Given the description of an element on the screen output the (x, y) to click on. 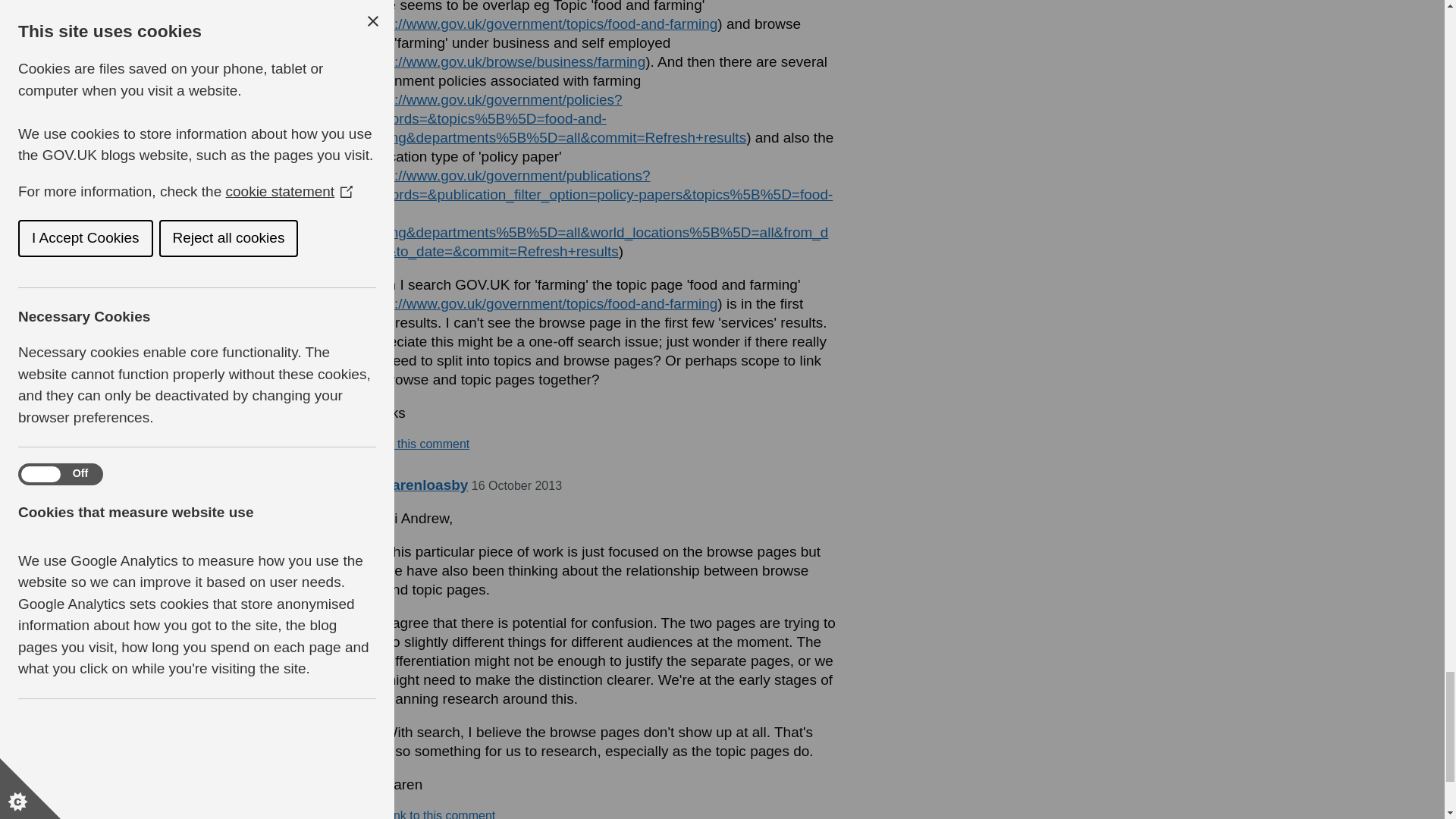
Link to this comment (413, 444)
karenloasby (425, 484)
Link to this comment (439, 813)
